Given the description of an element on the screen output the (x, y) to click on. 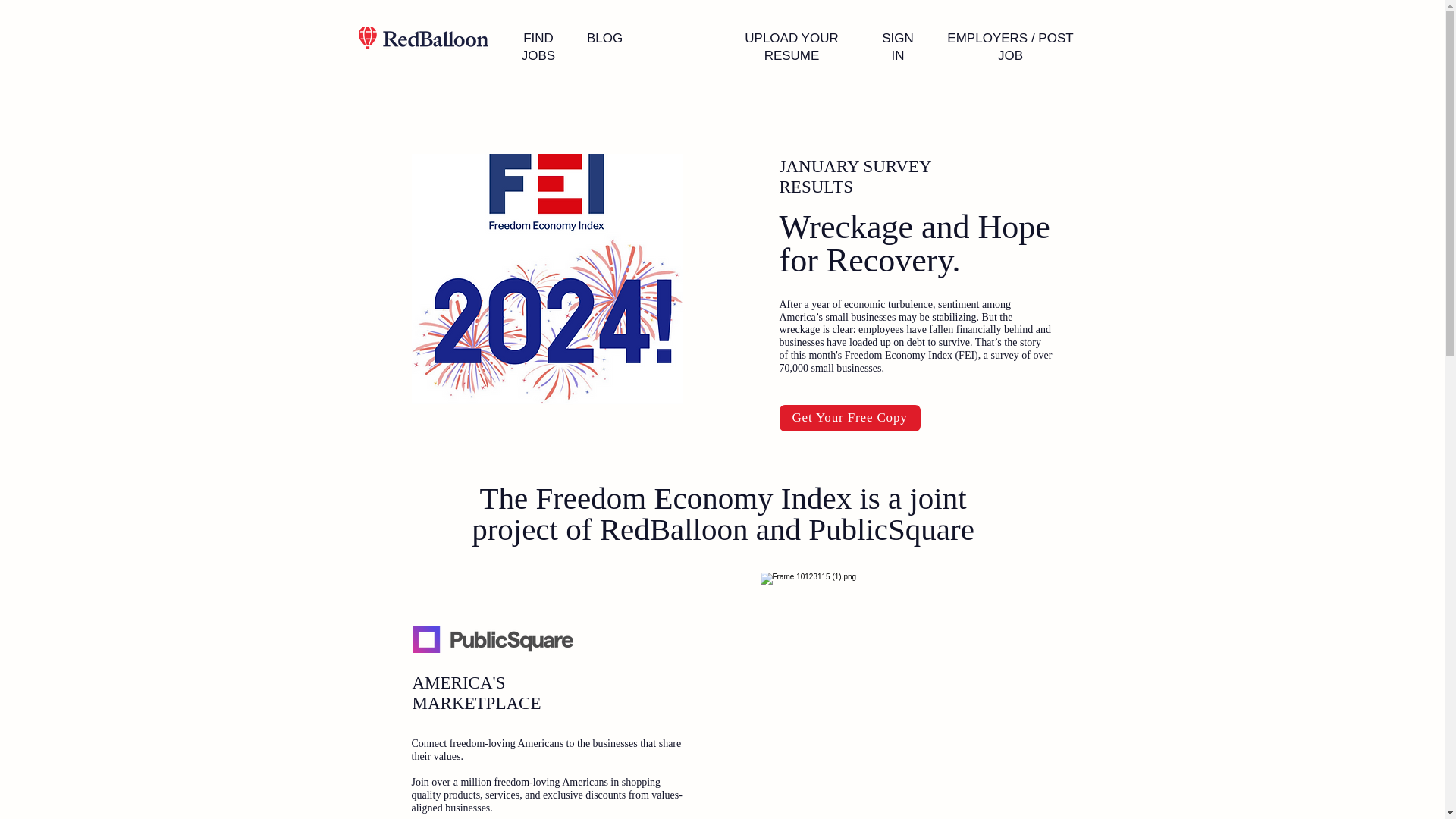
Get Your Free Copy (849, 417)
UPLOAD YOUR RESUME (791, 47)
RedBalloon Logo.png (422, 37)
FIND JOBS (537, 47)
SIGN IN (898, 47)
BLOG (604, 38)
